Given the description of an element on the screen output the (x, y) to click on. 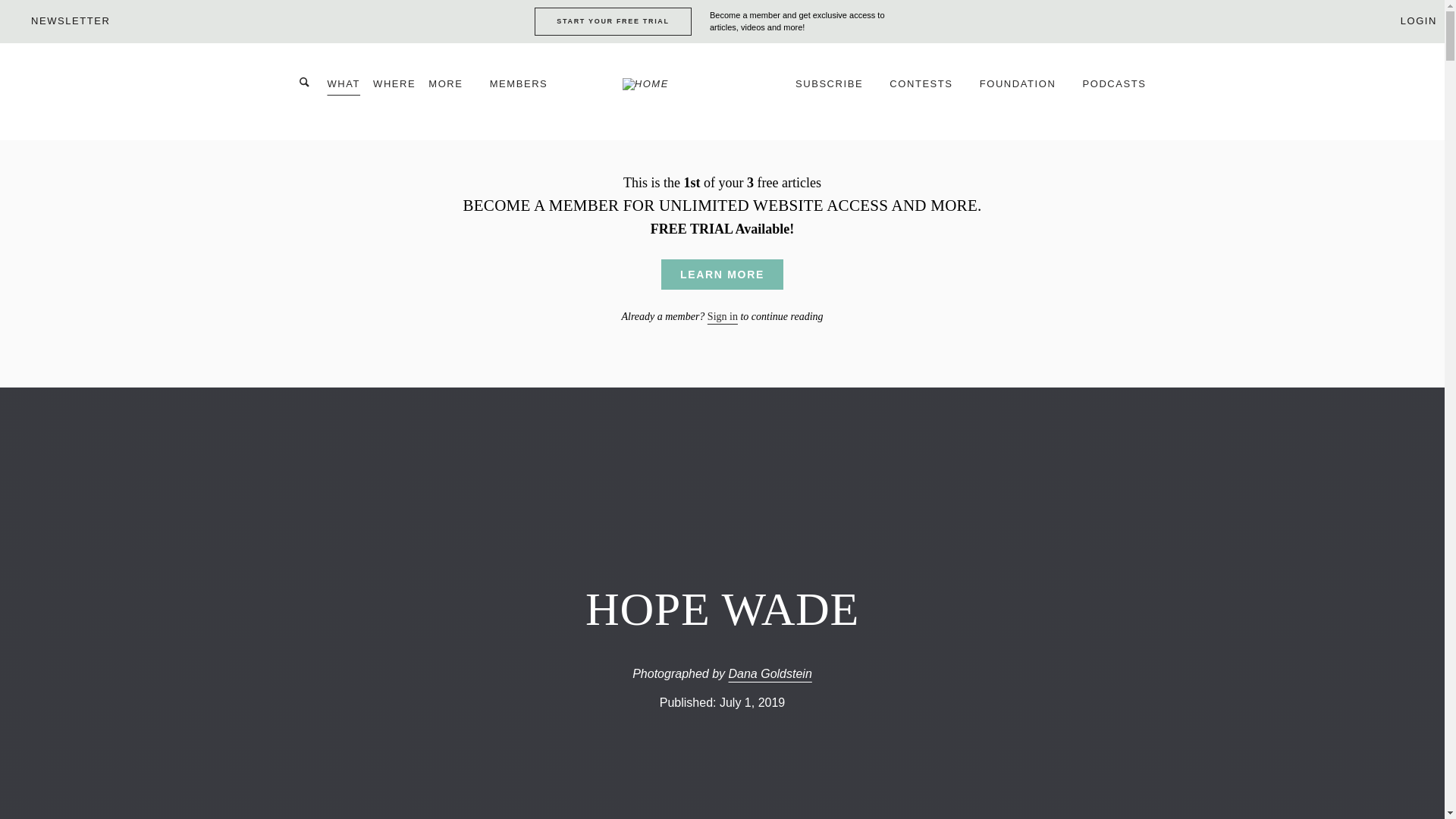
PODCASTS (1115, 91)
START YOUR FREE TRIAL (612, 21)
LOGIN (1408, 20)
MORE (452, 91)
MEMBERS (525, 91)
WHERE (393, 91)
Dana Goldstein (770, 673)
SUBSCRIBE (835, 91)
NEWSLETTER (58, 20)
Subscribe (835, 91)
